Given the description of an element on the screen output the (x, y) to click on. 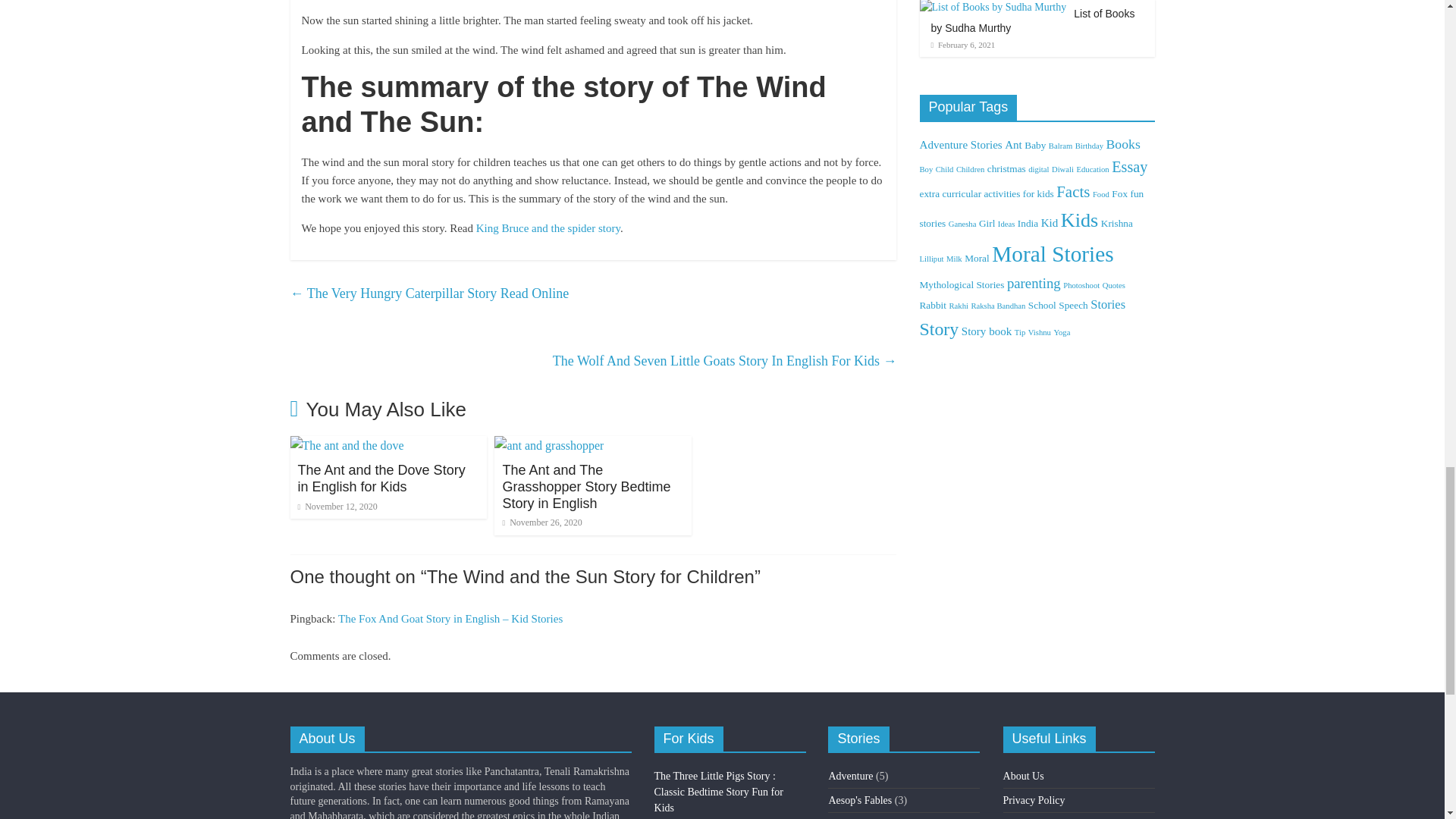
King Bruce and the spider story (548, 227)
The Ant and the Dove Story in English for Kids (380, 478)
4:58 pm (337, 506)
The Ant and the Dove Story in English for Kids (346, 445)
The Ant and the Dove Story in English for Kids (380, 478)
7:28 pm (541, 521)
November 12, 2020 (337, 506)
The Ant and The Grasshopper Story Bedtime Story in English (585, 486)
The Ant and The Grasshopper Story Bedtime Story in English (549, 445)
The Ant and The Grasshopper Story Bedtime Story in English (585, 486)
